Given the description of an element on the screen output the (x, y) to click on. 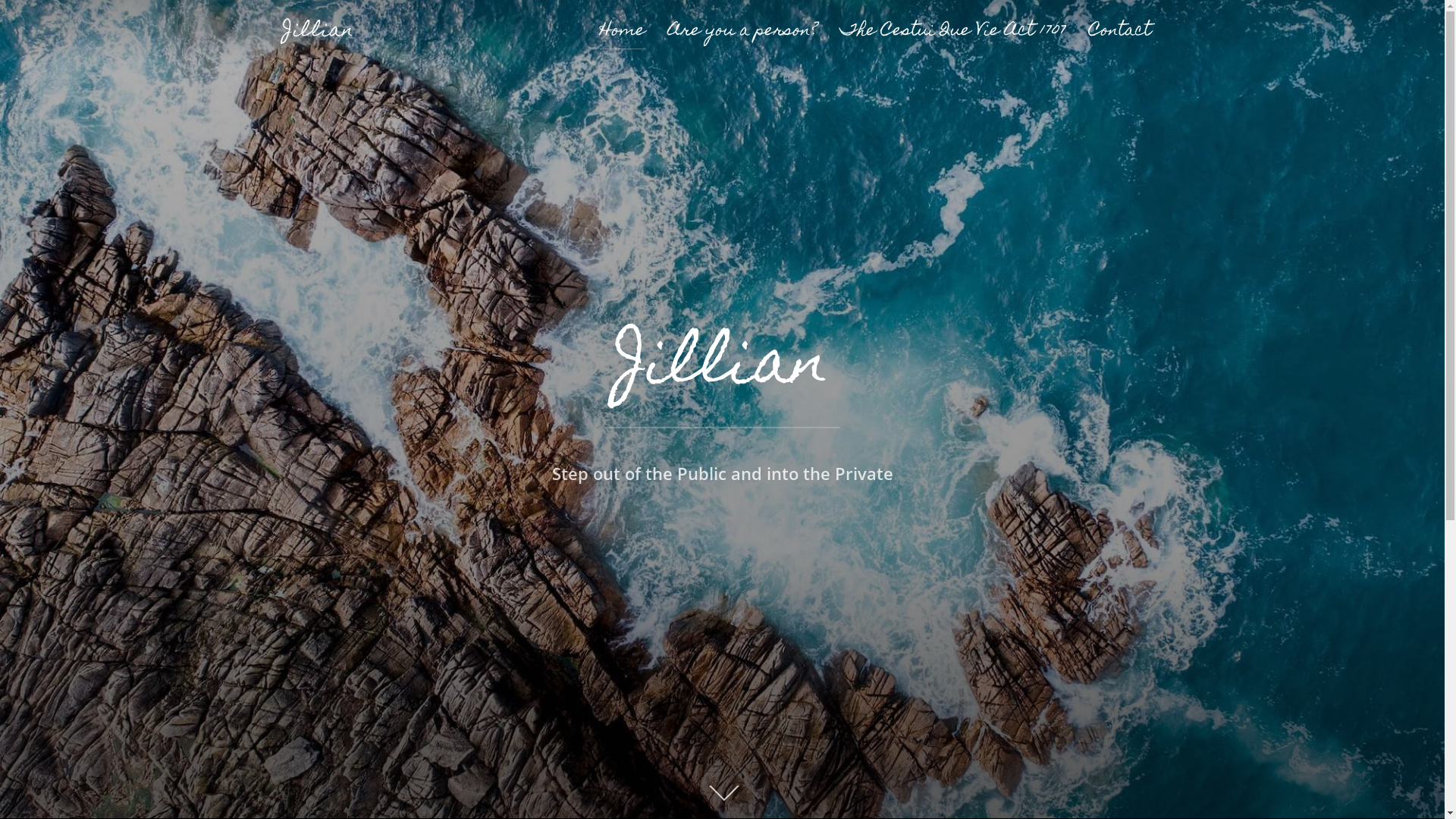
Home Element type: text (621, 31)
Skip to content Element type: text (0, 0)
Jillian Element type: text (317, 31)
Are you a person? Element type: text (741, 31)
Contact Element type: text (1119, 31)
Jillian Element type: text (721, 367)
The Cestui Que Vie Act 1707 Element type: text (953, 31)
